Given the description of an element on the screen output the (x, y) to click on. 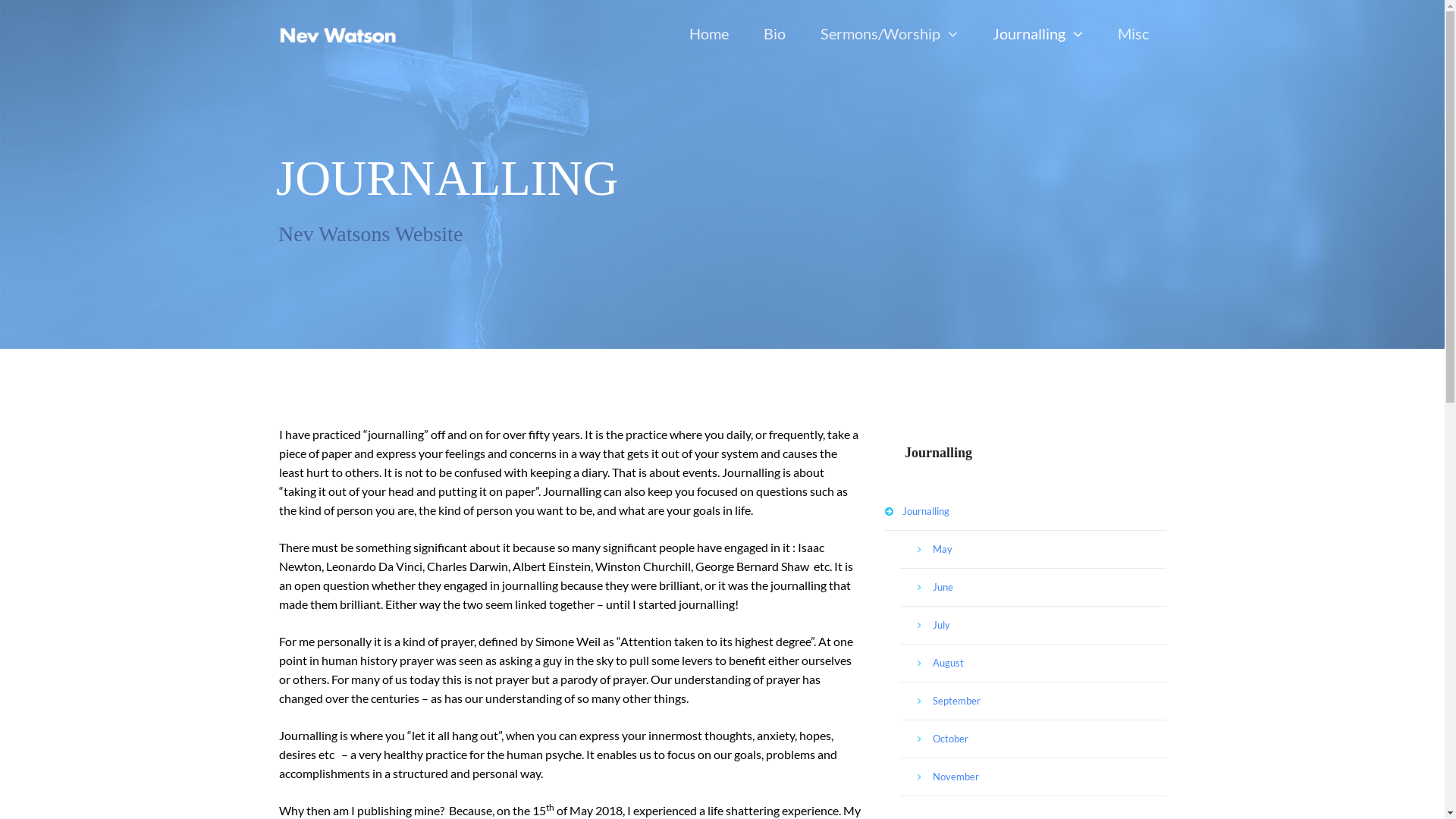
September Element type: text (1033, 701)
Misc Element type: text (1132, 34)
November Element type: text (1033, 777)
Journalling Element type: text (1037, 34)
Sermons/Worship Element type: text (888, 34)
June Element type: text (1033, 587)
Journalling Element type: text (1025, 511)
October Element type: text (1033, 739)
Home Element type: text (708, 34)
July Element type: text (1033, 625)
Reverend Nev Watson Element type: hover (337, 35)
Bio Element type: text (774, 34)
May Element type: text (1033, 549)
August Element type: text (1033, 663)
